Given the description of an element on the screen output the (x, y) to click on. 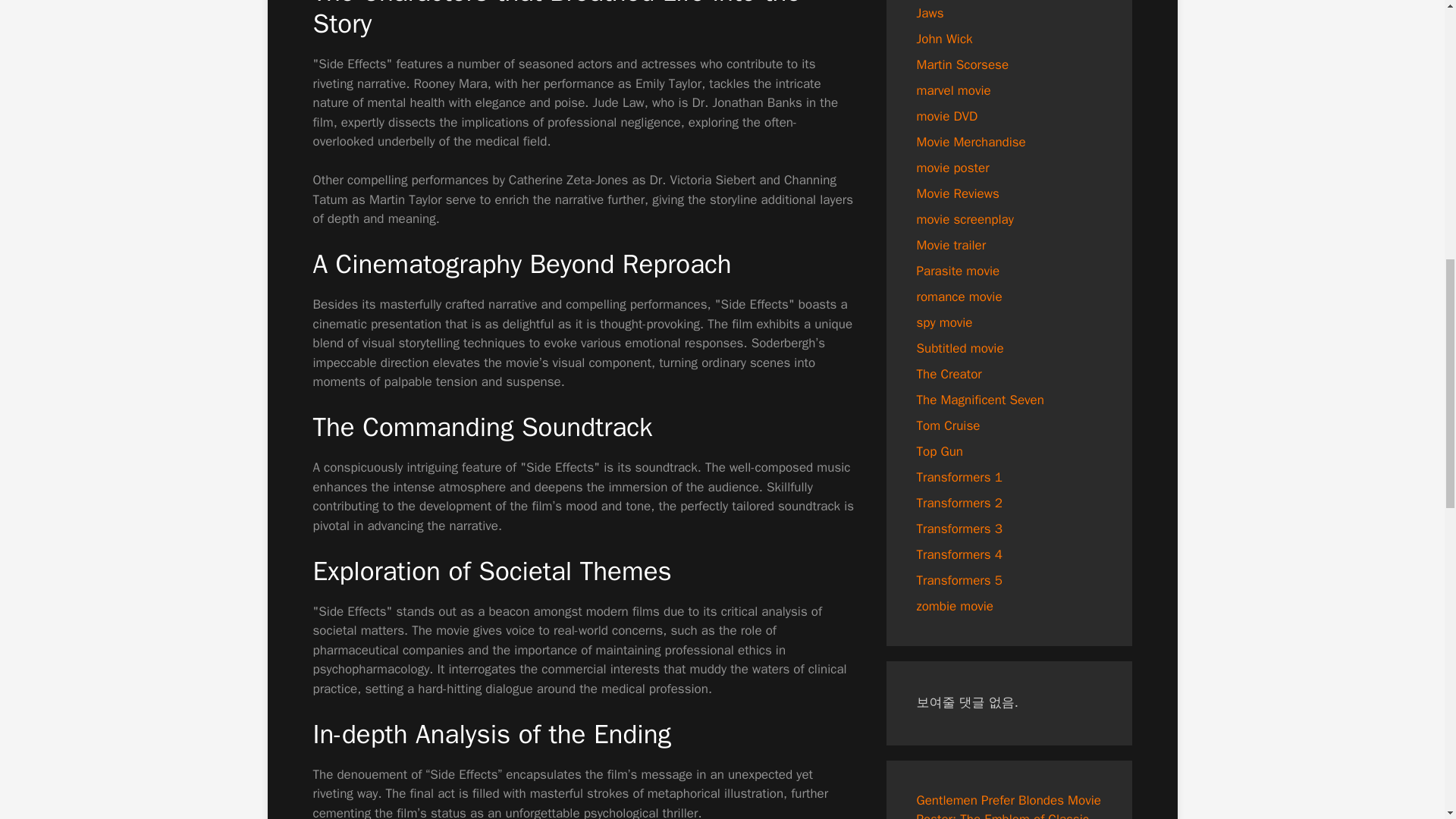
Scroll back to top (1406, 720)
